Given the description of an element on the screen output the (x, y) to click on. 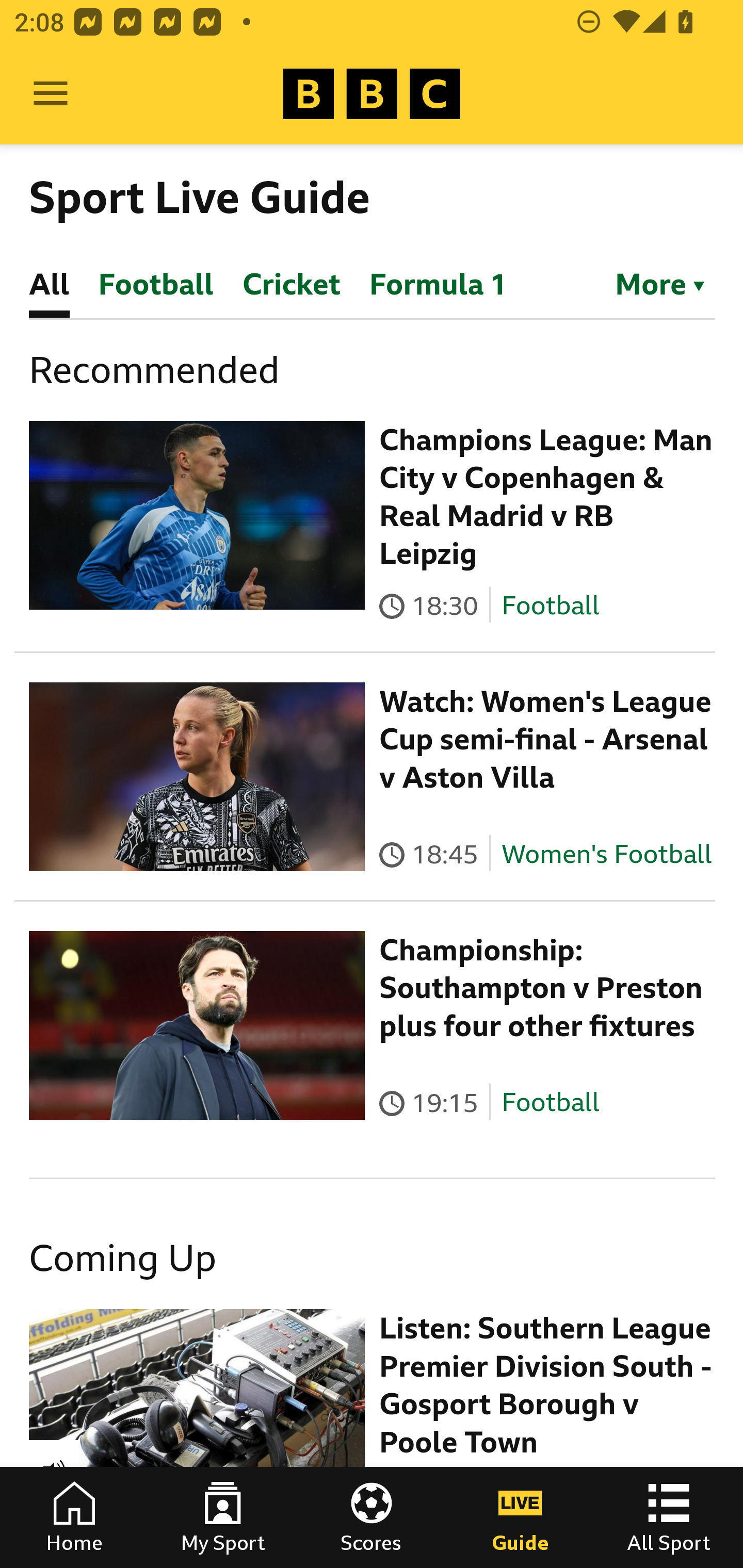
Open Menu (50, 93)
Football (550, 604)
Women's Football (606, 853)
Football (550, 1102)
Home (74, 1517)
My Sport (222, 1517)
Scores (371, 1517)
All Sport (668, 1517)
